Given the description of an element on the screen output the (x, y) to click on. 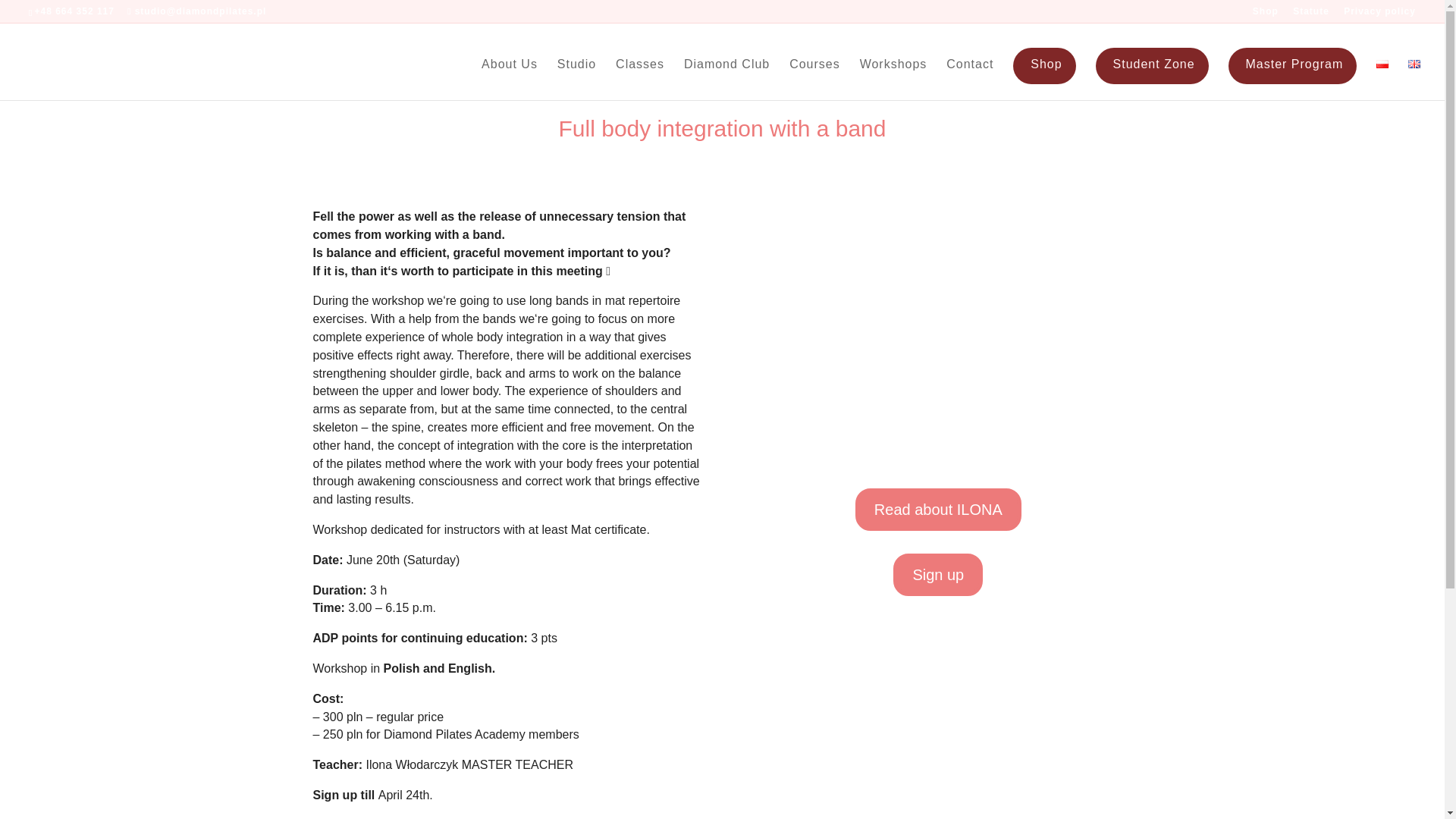
Read about ILONA (939, 509)
Diamond Club (727, 78)
Classes (639, 78)
Shop (1044, 65)
Sign up (937, 574)
Shop (1265, 14)
Privacy policy (1379, 14)
Student Zone (1152, 65)
Statute (1310, 14)
Courses (814, 78)
